Given the description of an element on the screen output the (x, y) to click on. 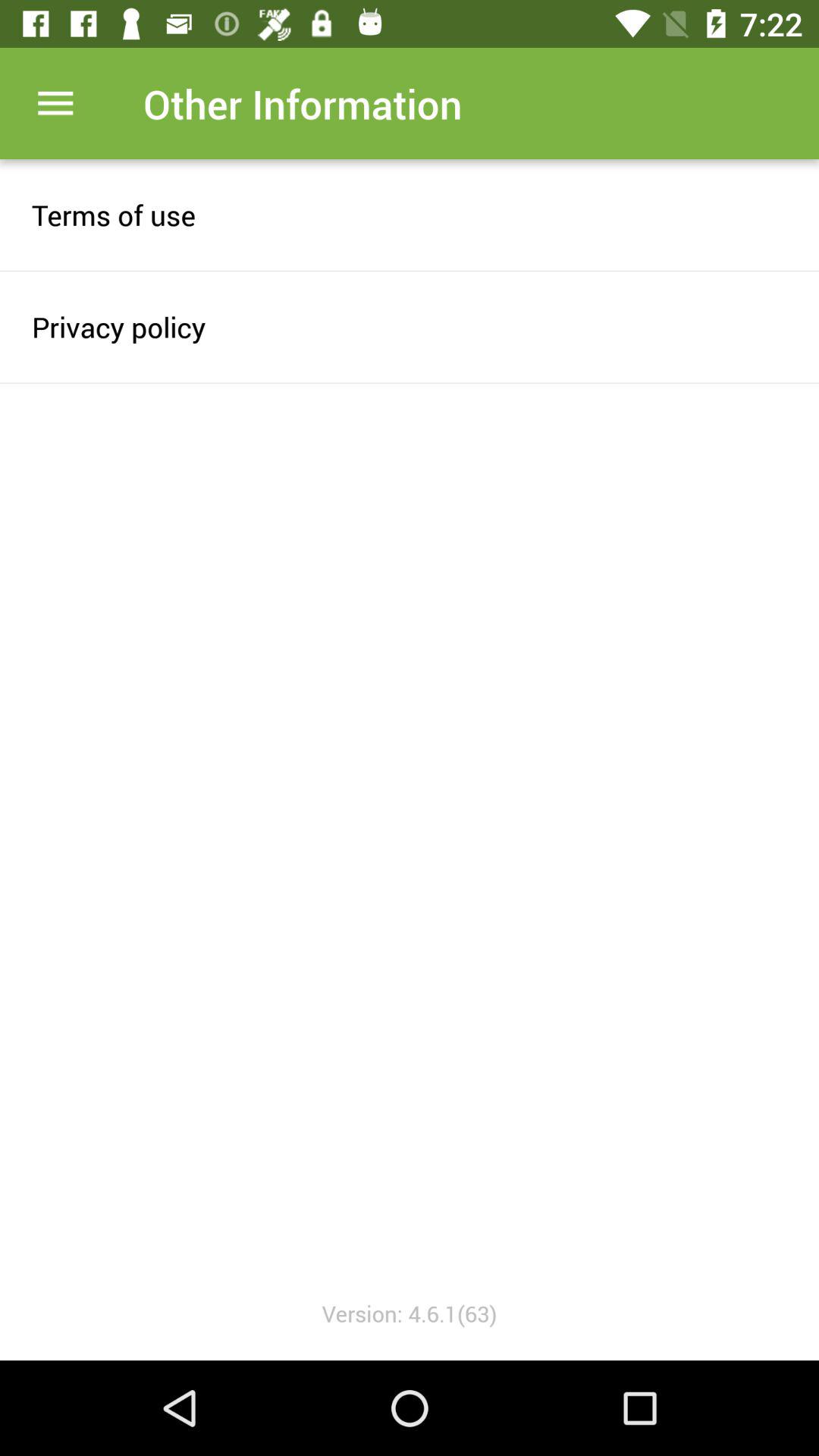
open terms of use (409, 214)
